Given the description of an element on the screen output the (x, y) to click on. 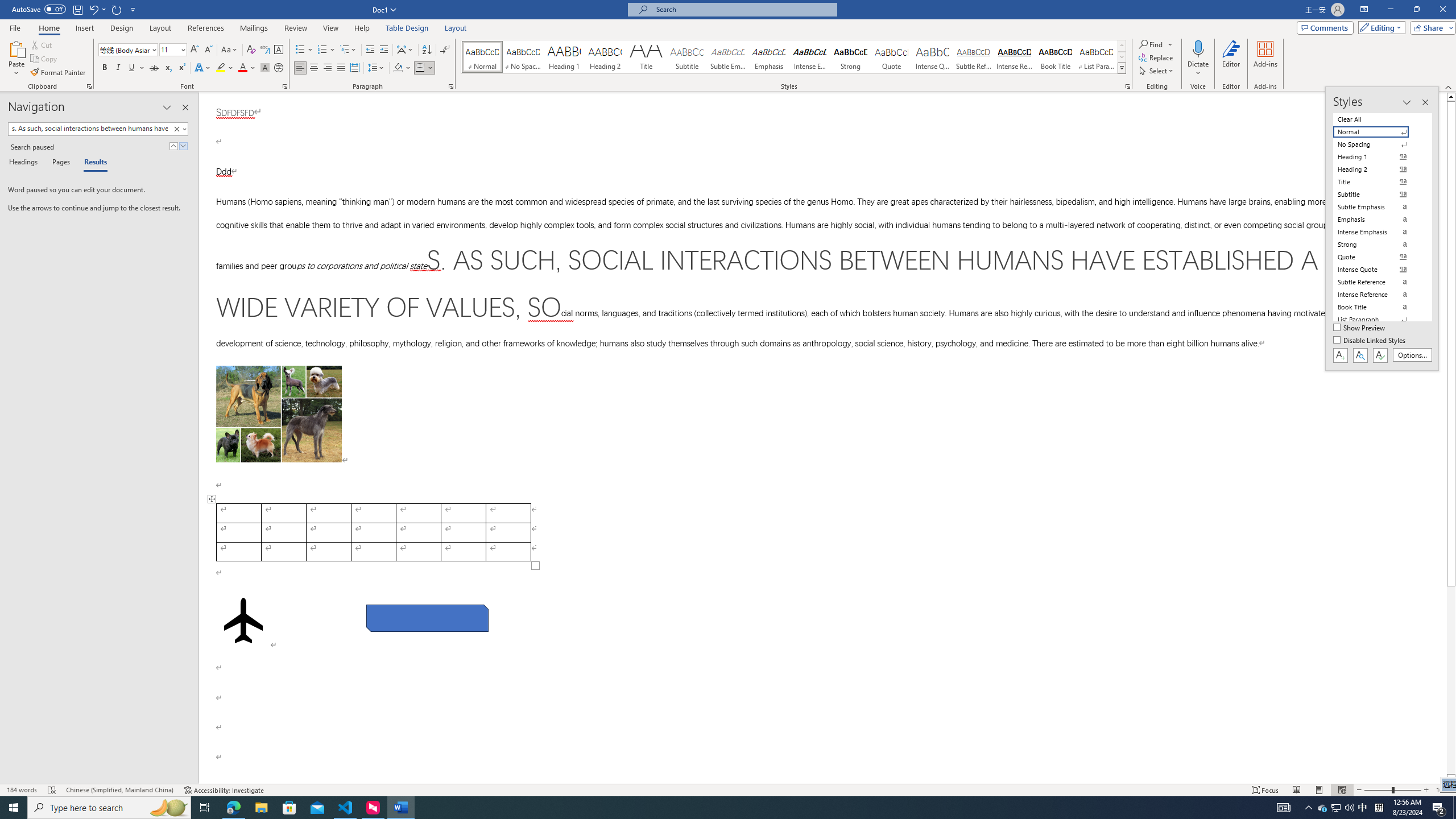
Heading 2 (605, 56)
Intense Quote (932, 56)
Normal (1377, 131)
AutomationID: QuickStylesGallery (794, 56)
Morphological variation in six dogs (278, 414)
Line down (1450, 778)
Undo Style (92, 9)
